Given the description of an element on the screen output the (x, y) to click on. 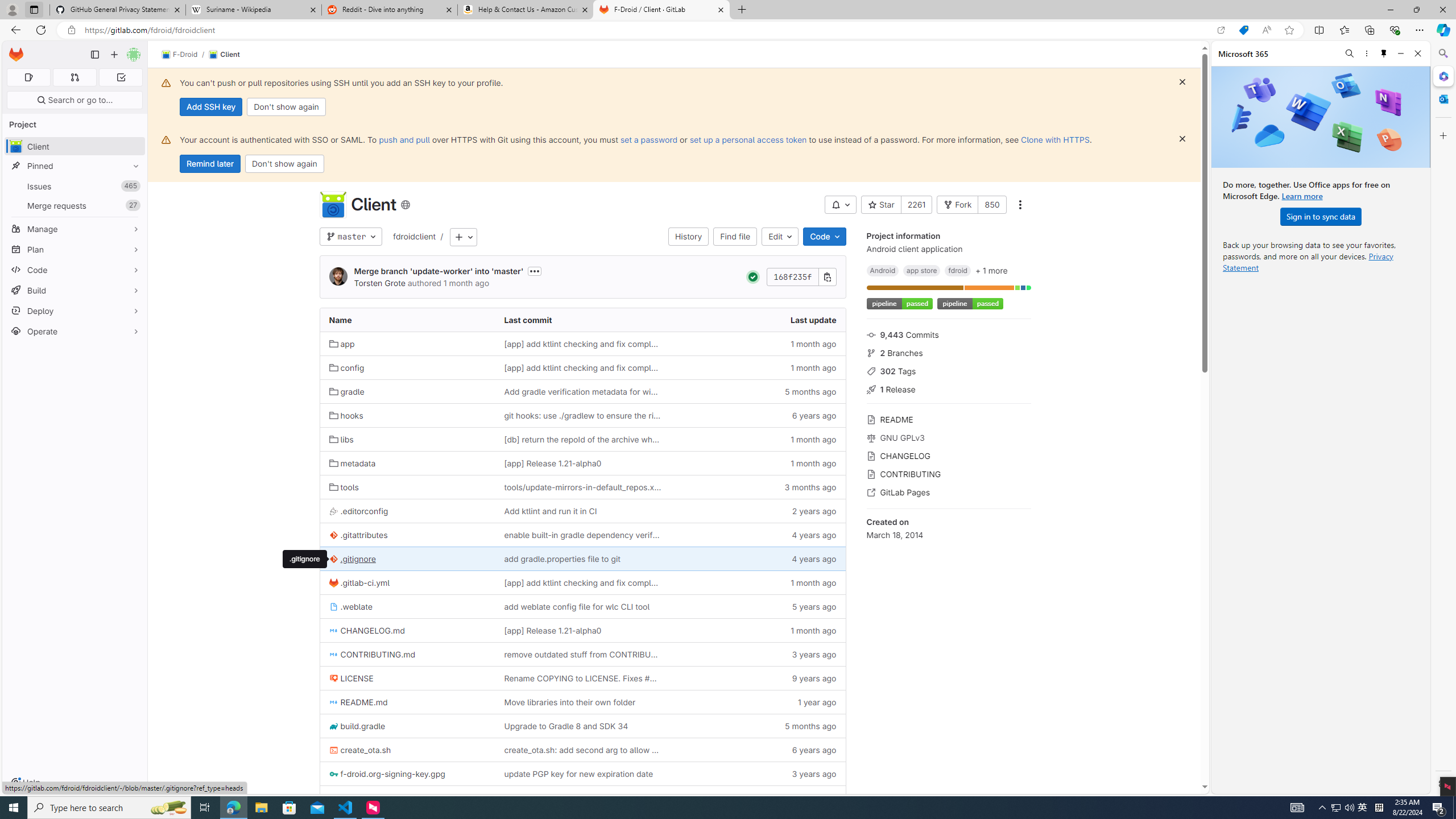
README.md (407, 701)
Unpin side pane (1383, 53)
302 Tags (948, 369)
tools (407, 487)
[app] add ktlint checking and fix complaints it has (582, 582)
.gitlab-ci.yml (407, 582)
F-Droid (179, 54)
[app] add ktlint checking and fix complaints it has (583, 582)
CONTRIBUTING (948, 473)
f-droid.org-signing-key.gpg (407, 773)
README (948, 418)
.weblate (407, 606)
